Given the description of an element on the screen output the (x, y) to click on. 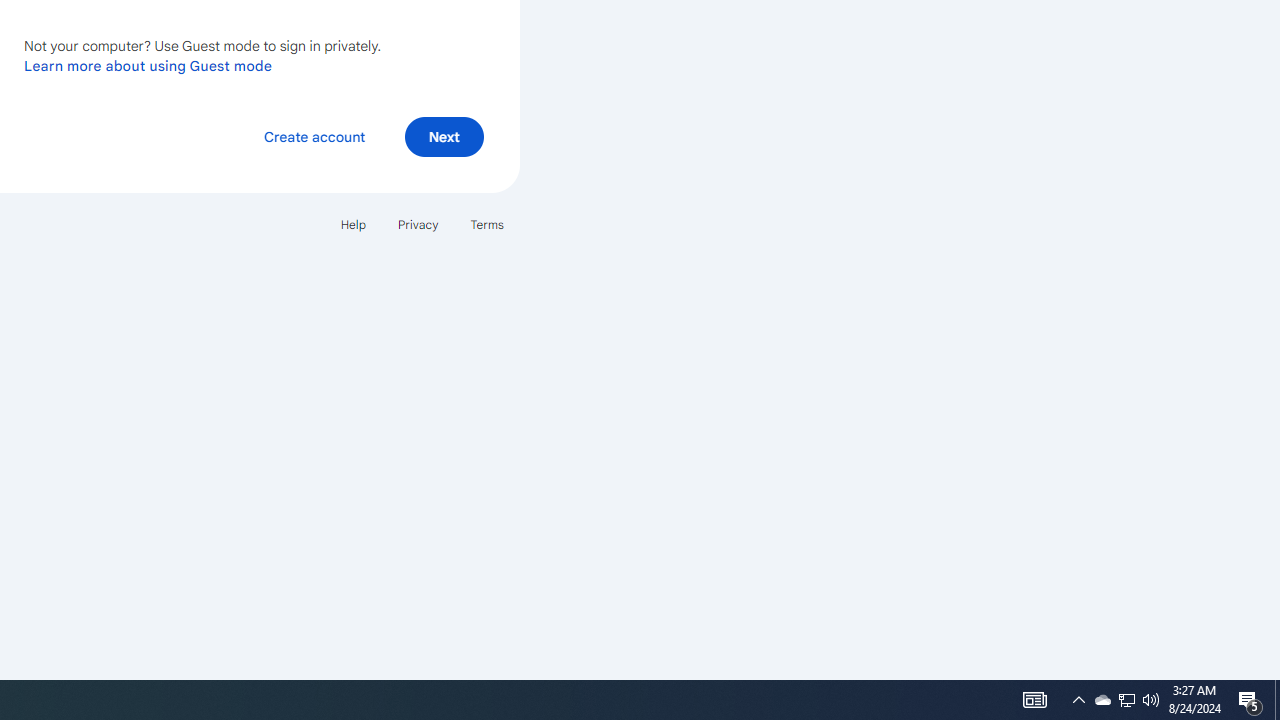
Learn more about using Guest mode (148, 65)
Create account (314, 135)
